Given the description of an element on the screen output the (x, y) to click on. 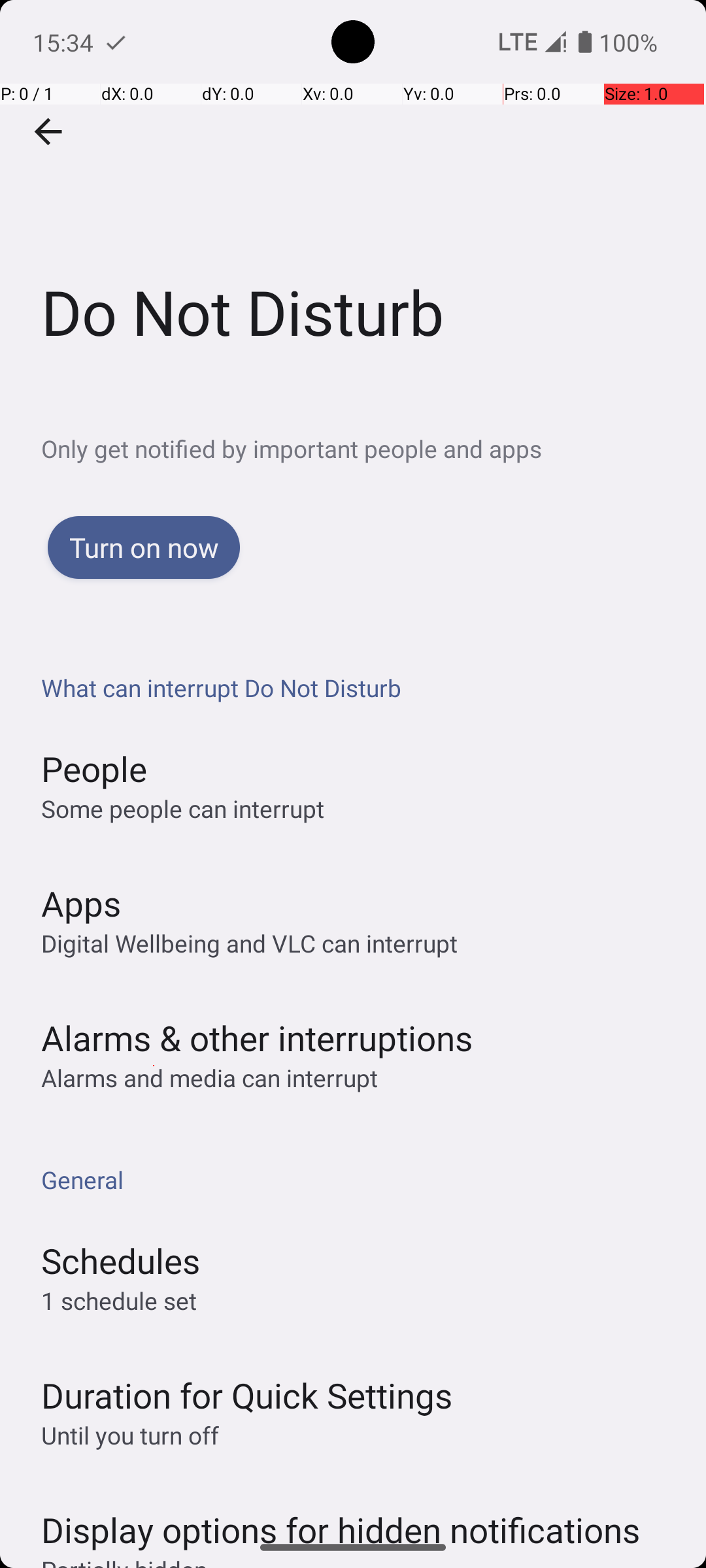
Only get notified by important people and apps Element type: android.widget.TextView (373, 448)
Turn on now Element type: android.widget.Button (143, 547)
What can interrupt Do Not Disturb Element type: android.widget.TextView (359, 687)
People Element type: android.widget.TextView (94, 768)
Some people can interrupt Element type: android.widget.TextView (182, 808)
Digital Wellbeing and VLC can interrupt Element type: android.widget.TextView (249, 942)
Alarms & other interruptions Element type: android.widget.TextView (256, 1037)
Alarms and media can interrupt Element type: android.widget.TextView (209, 1077)
Schedules Element type: android.widget.TextView (120, 1260)
1 schedule set Element type: android.widget.TextView (118, 1300)
Duration for Quick Settings Element type: android.widget.TextView (246, 1395)
Until you turn off Element type: android.widget.TextView (129, 1434)
Display options for hidden notifications Element type: android.widget.TextView (340, 1516)
